Given the description of an element on the screen output the (x, y) to click on. 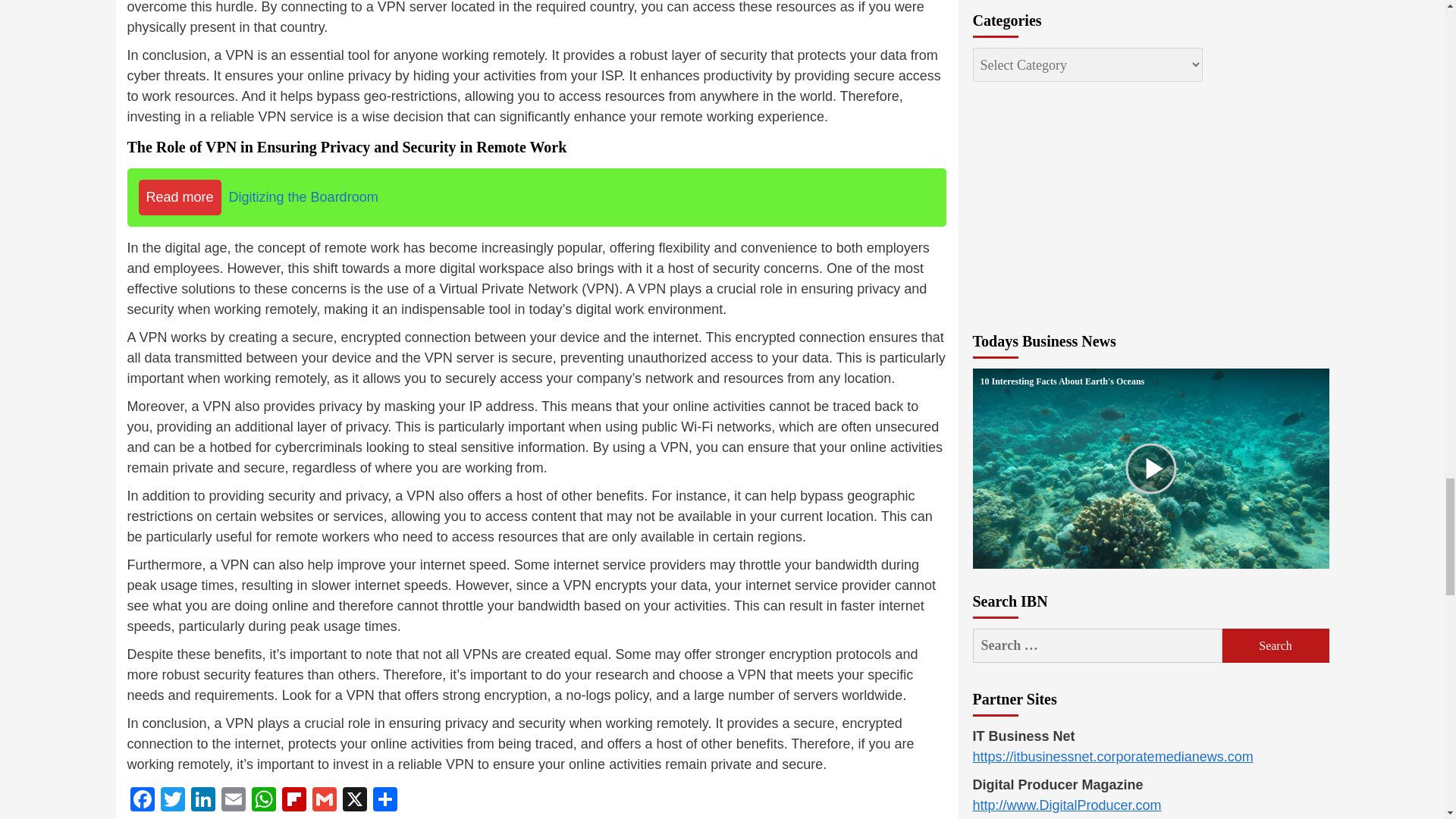
LinkedIn (202, 800)
Email (233, 800)
Facebook (142, 800)
Flipboard (293, 800)
WhatsApp (263, 800)
WhatsApp (263, 800)
Facebook (142, 800)
Twitter (172, 800)
Twitter (172, 800)
Gmail (323, 800)
Share (384, 800)
Email (233, 800)
X (354, 800)
Read moreDigitizing the Boardroom (537, 197)
LinkedIn (202, 800)
